Given the description of an element on the screen output the (x, y) to click on. 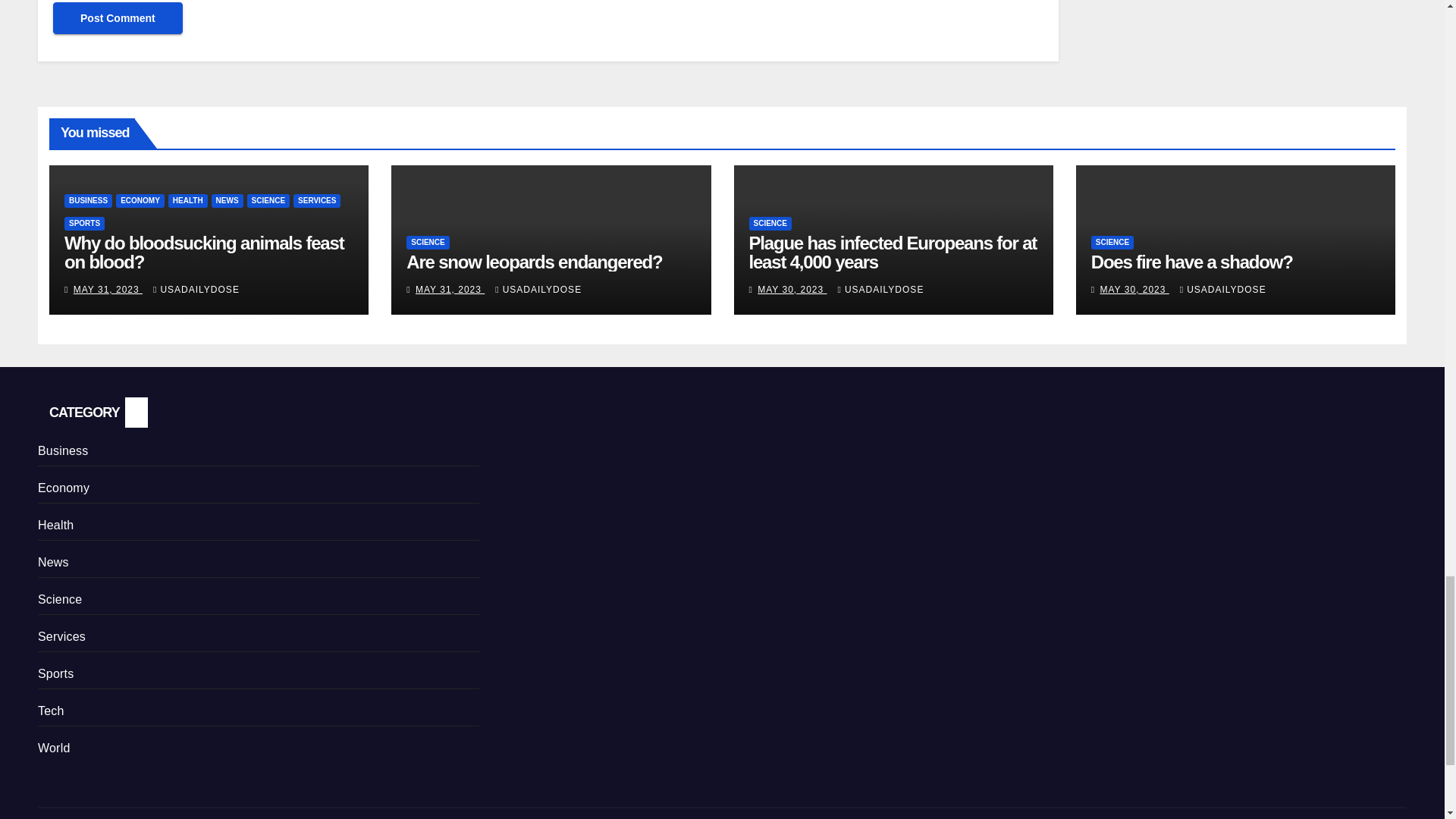
Post Comment (117, 18)
Permalink to: Does fire have a shadow? (1191, 261)
Permalink to: Are snow leopards endangered? (534, 261)
Permalink to: Why do bloodsucking animals feast on blood? (203, 251)
